Given the description of an element on the screen output the (x, y) to click on. 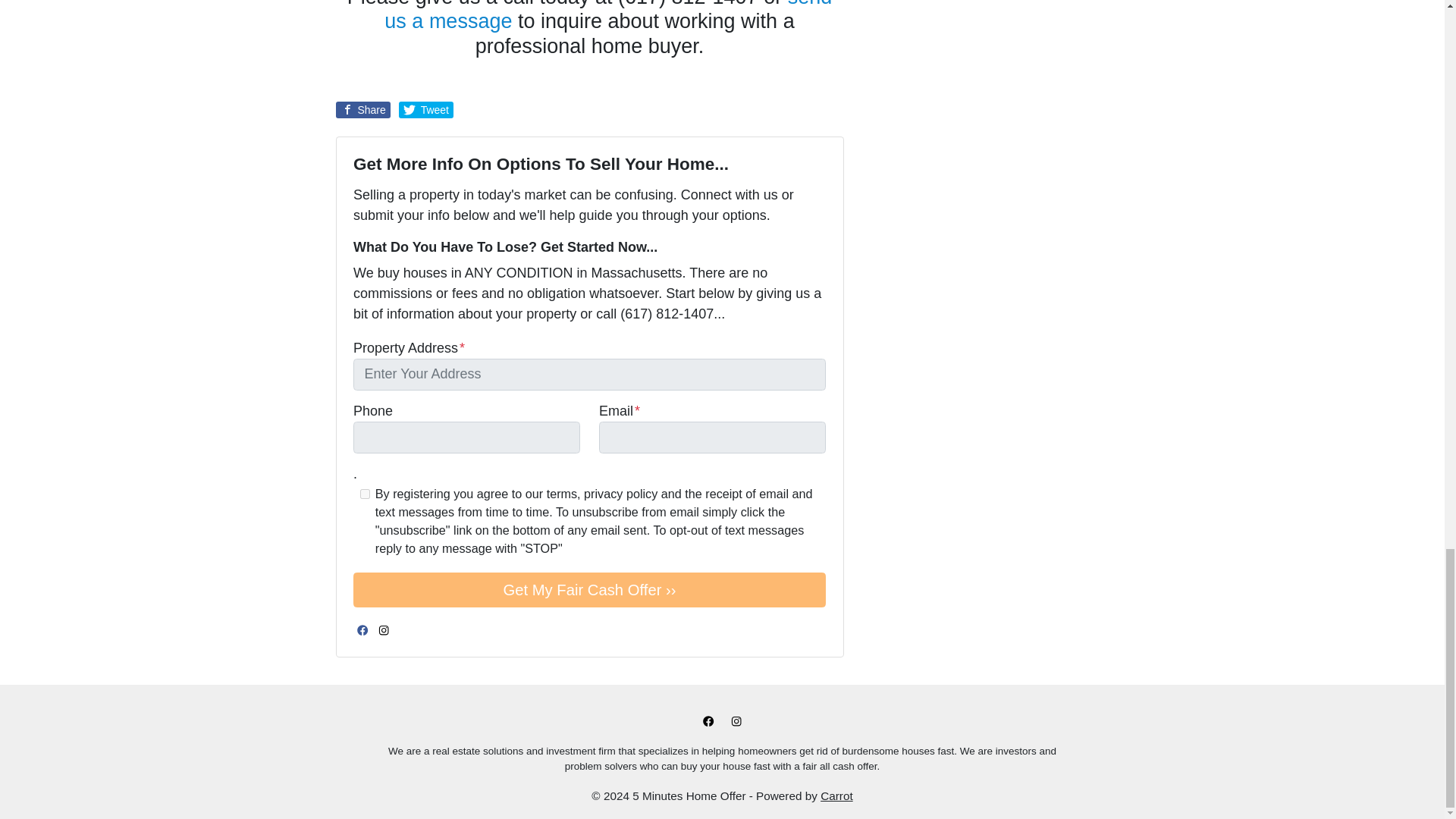
send us a message (607, 16)
Share on Twitter (425, 109)
Instagram (383, 629)
Facebook (362, 629)
Facebook (707, 720)
Share on Facebook (362, 109)
Tweet (425, 109)
Instagram (735, 720)
Share (362, 109)
Carrot (837, 795)
